Given the description of an element on the screen output the (x, y) to click on. 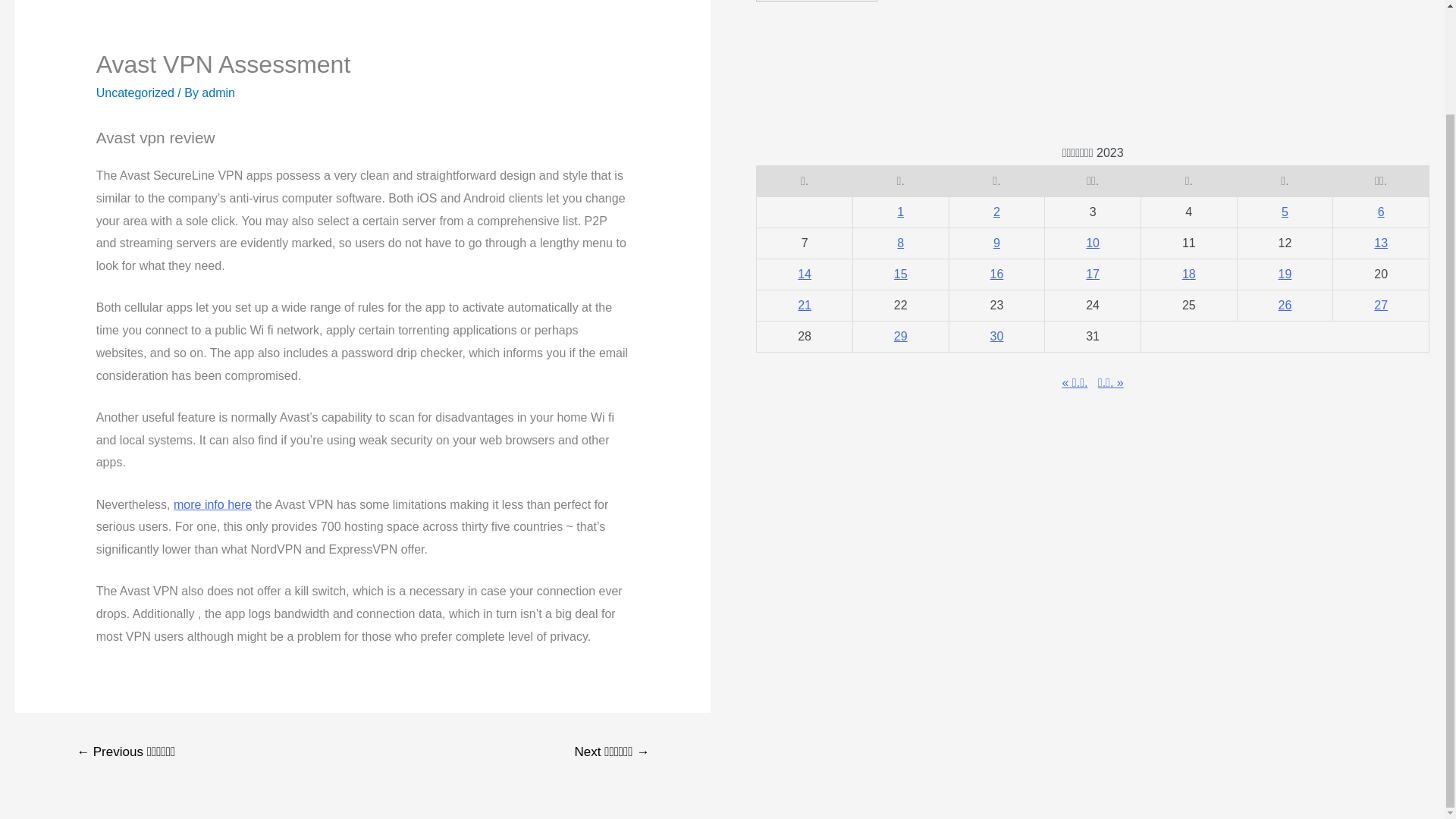
15 (900, 273)
14 (803, 273)
26 (1285, 305)
29 (900, 336)
Uncategorized (135, 92)
17 (1092, 273)
admin (218, 92)
10 (1092, 242)
View all posts by admin (218, 92)
more info here (212, 504)
18 (1188, 273)
27 (1380, 305)
19 (1285, 273)
21 (803, 305)
13 (1380, 242)
